Given the description of an element on the screen output the (x, y) to click on. 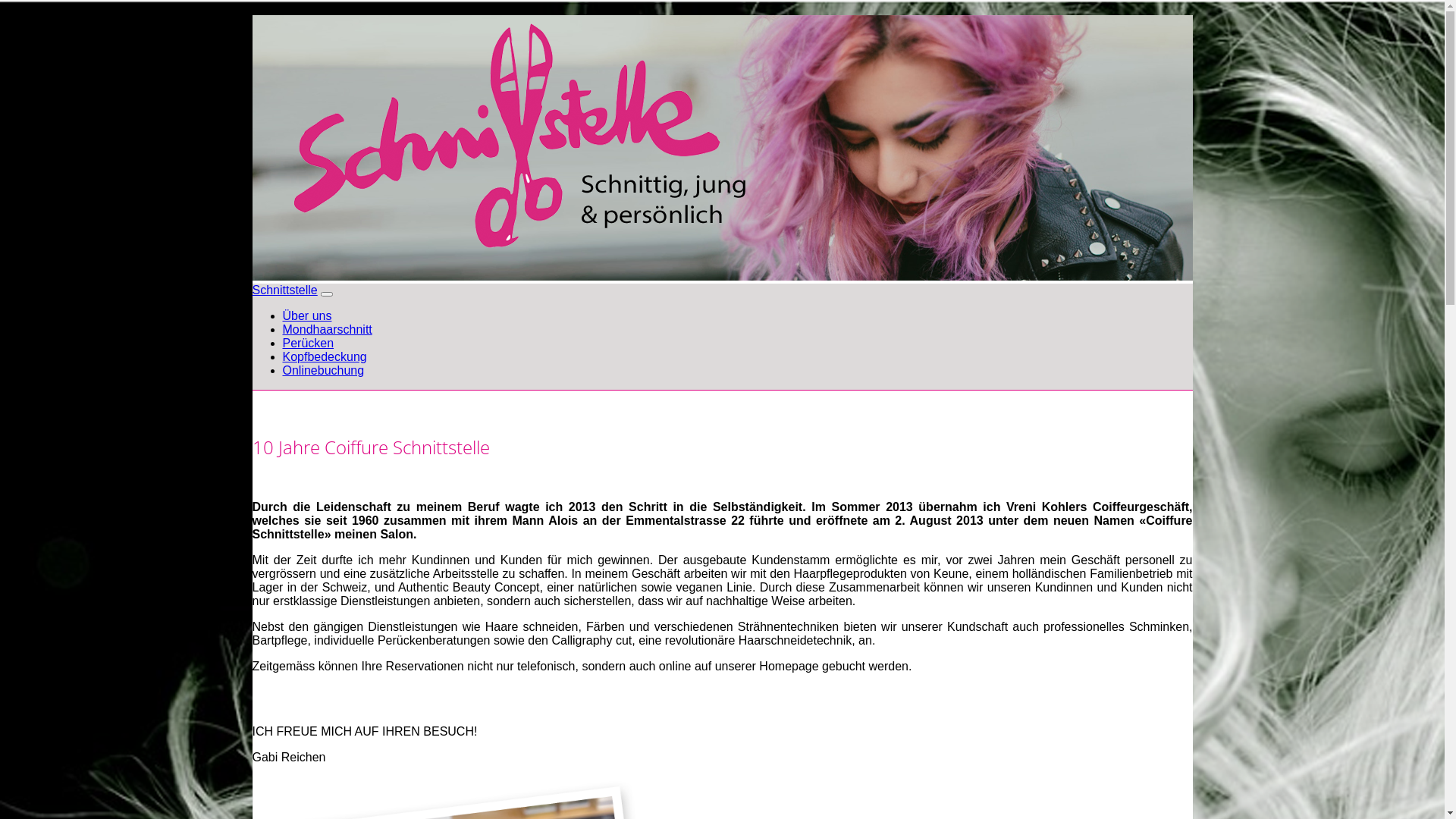
Schnittstelle Element type: text (283, 289)
Mondhaarschnitt Element type: text (326, 329)
Onlinebuchung Element type: text (323, 370)
Kopfbedeckung Element type: text (324, 356)
